Given the description of an element on the screen output the (x, y) to click on. 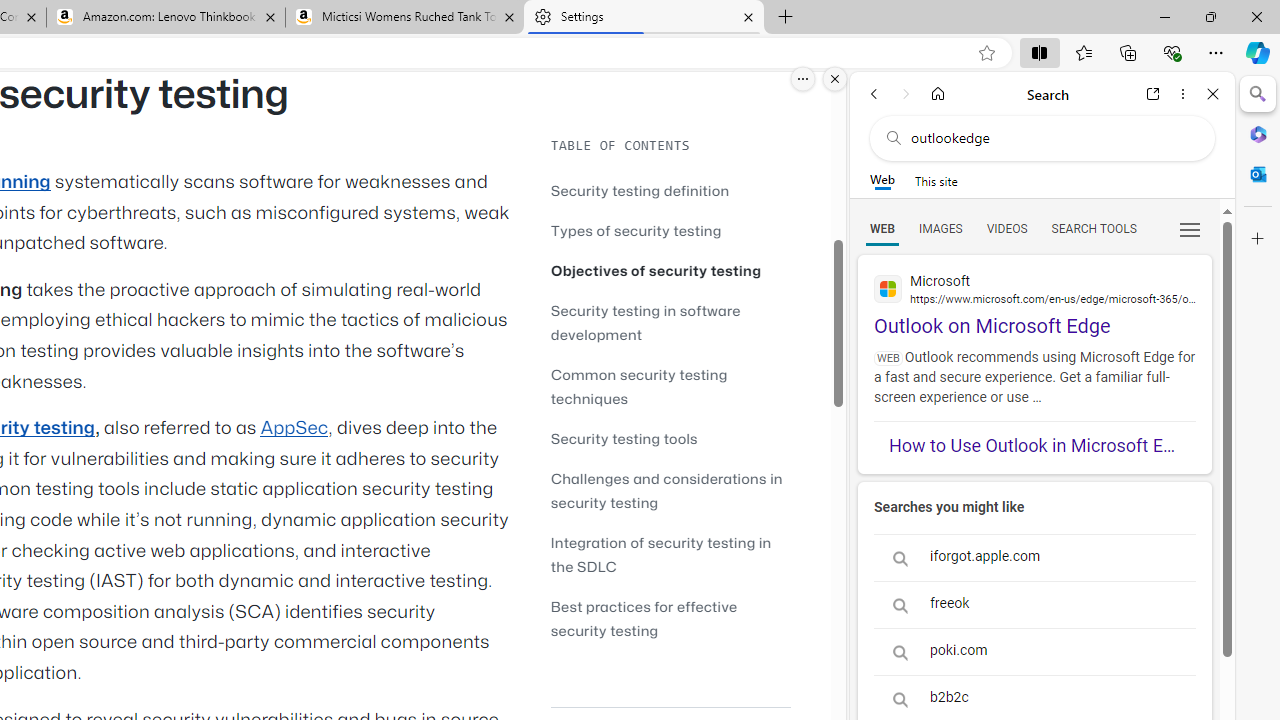
Security testing in software development (645, 321)
Best practices for effective security testing (670, 618)
Challenges and considerations in security testing (670, 489)
Security testing tools (670, 438)
Security testing tools (623, 438)
